Given the description of an element on the screen output the (x, y) to click on. 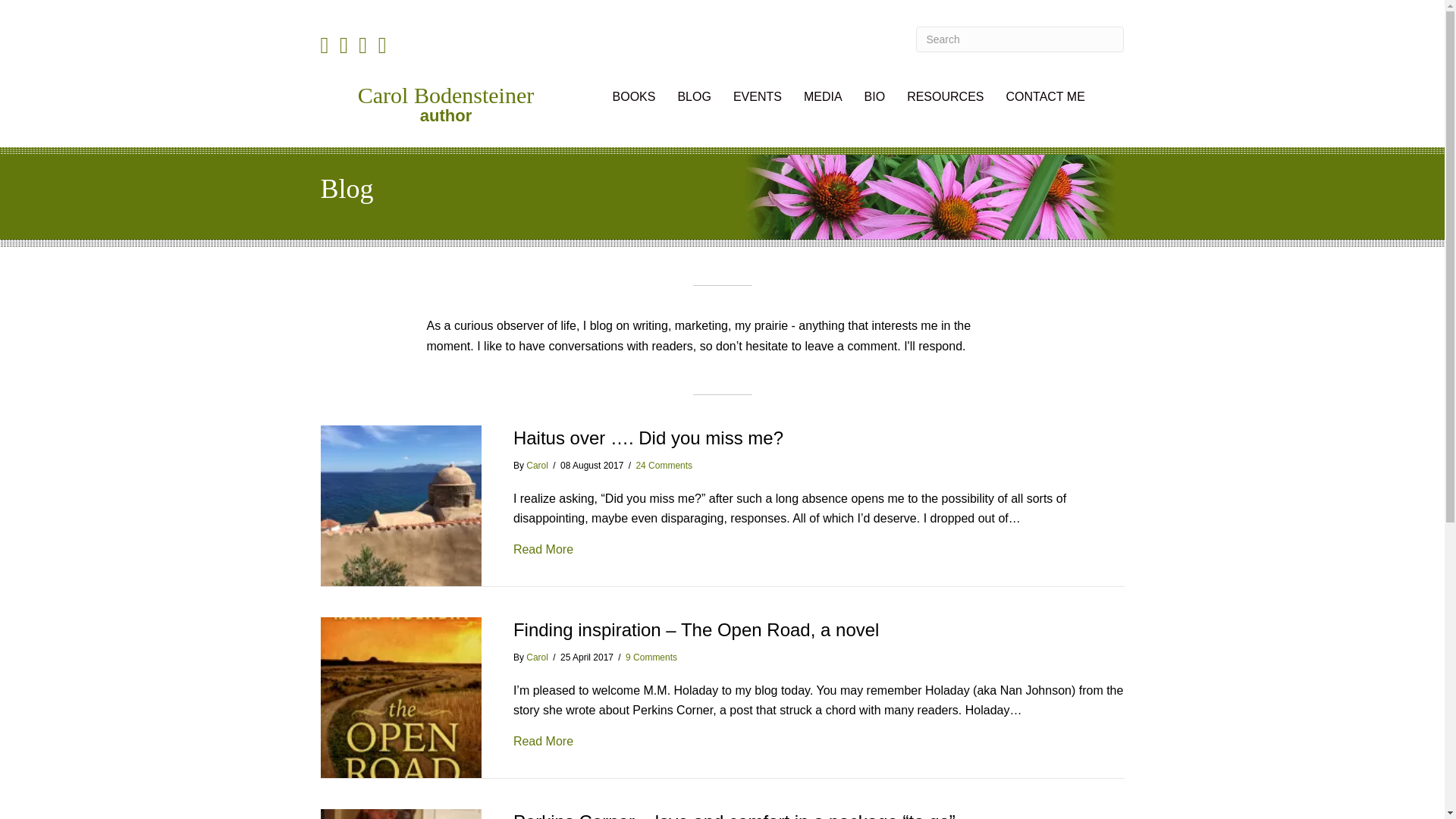
Carol Bodensteiner (446, 94)
author (445, 115)
Carol (536, 465)
CONTACT ME (1044, 96)
Carol (536, 656)
author (445, 115)
RESOURCES (945, 96)
Type and press Enter to search. (1019, 39)
BIO (874, 96)
EVENTS (757, 96)
Read More (543, 549)
24 Comments (663, 465)
BLOG (693, 96)
9 Comments (651, 656)
MEDIA (823, 96)
